Given the description of an element on the screen output the (x, y) to click on. 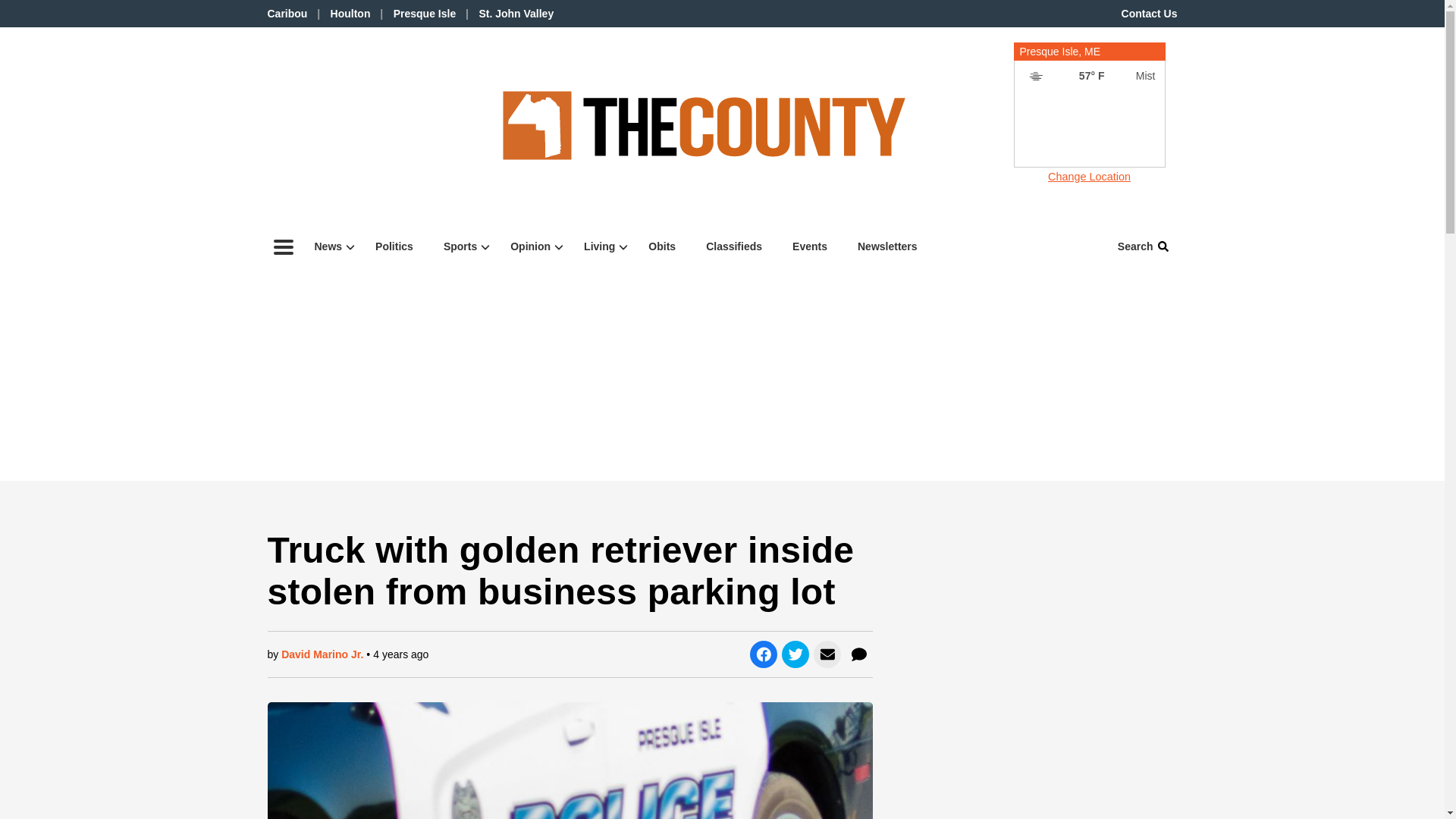
Opinion (532, 246)
Newsletters (888, 246)
Contact Us (1149, 13)
3rd party ad content (334, 125)
Events (810, 246)
3rd party ad content (1088, 128)
Obits (661, 246)
Politics (393, 246)
